Given the description of an element on the screen output the (x, y) to click on. 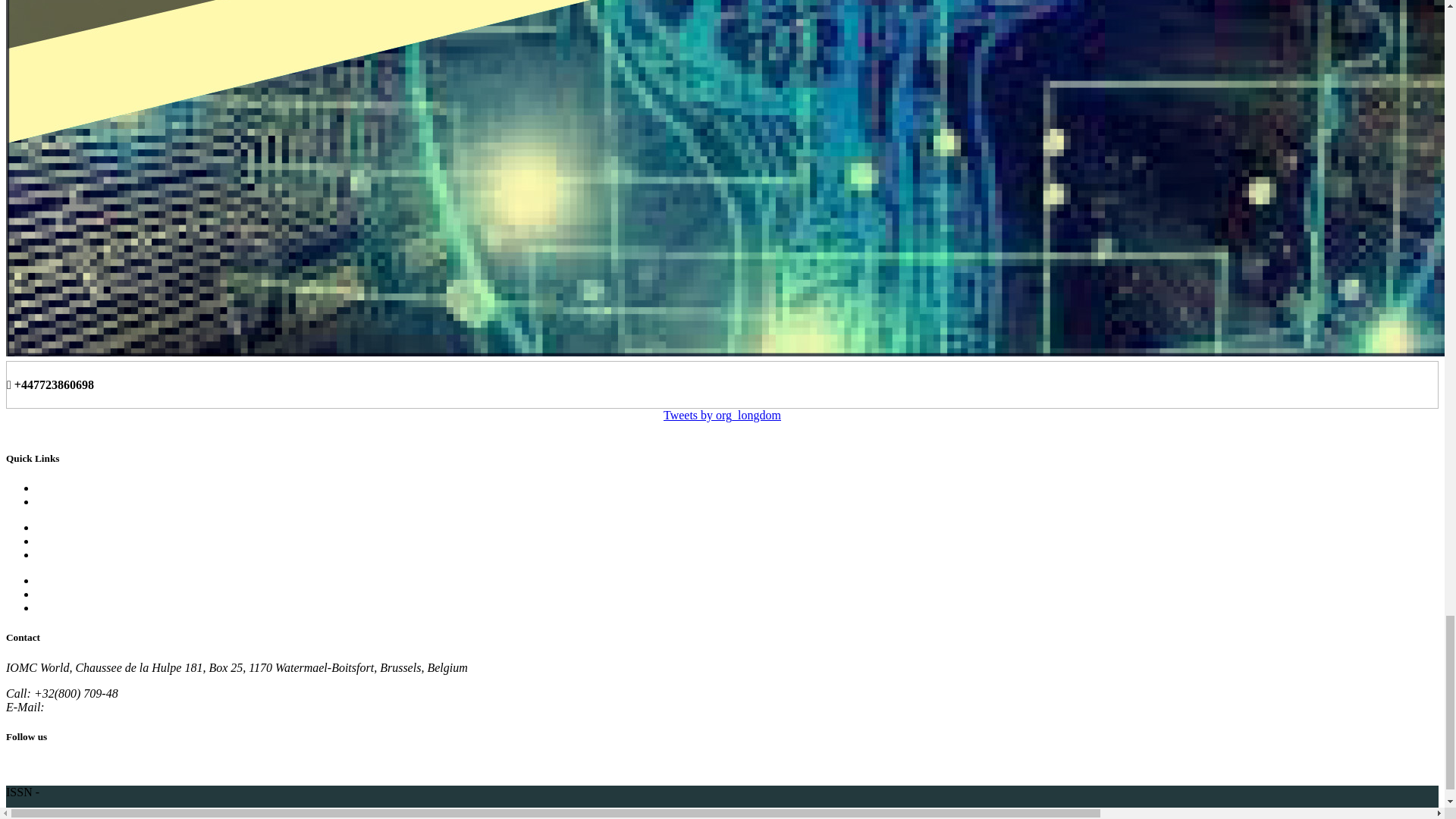
Editorial Board (74, 554)
Inpress (53, 501)
Inpress (53, 501)
About Journal (70, 487)
Archive (55, 580)
Submit Papers (71, 526)
About Journal (70, 487)
Contact (55, 594)
Author Guidelines (81, 540)
